Given the description of an element on the screen output the (x, y) to click on. 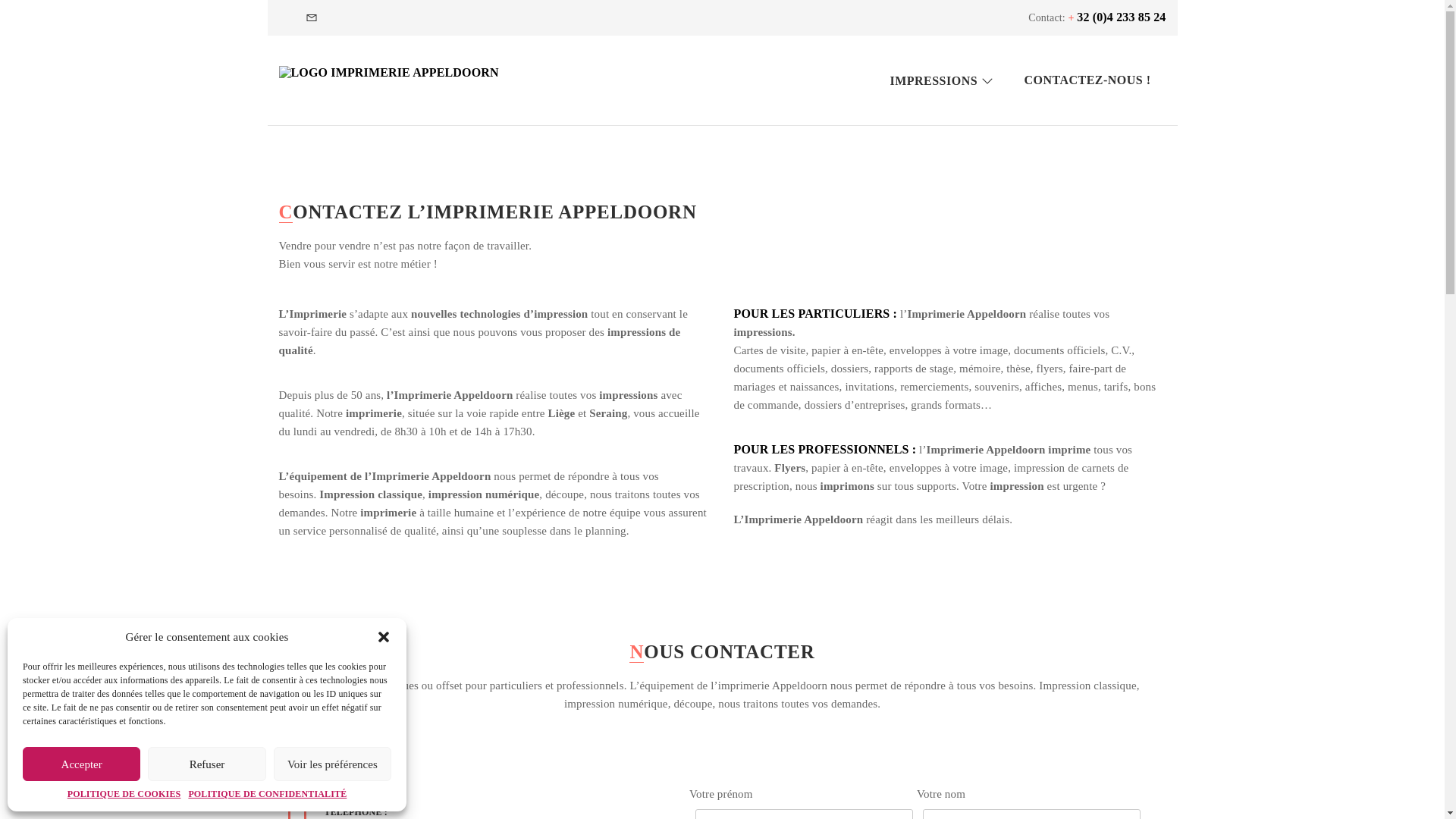
CONTACTEZ-NOUS ! Element type: text (1087, 80)
POUR LES PROFESSIONNELS : Element type: text (825, 448)
32 (0)4 233 85 24 Element type: text (1120, 16)
Accepter Element type: text (81, 763)
IMPRESSIONS Element type: text (942, 80)
POUR LES PARTICULIERS : Element type: text (815, 313)
POLITIQUE DE COOKIES Element type: text (124, 794)
Refuser Element type: text (206, 763)
